Given the description of an element on the screen output the (x, y) to click on. 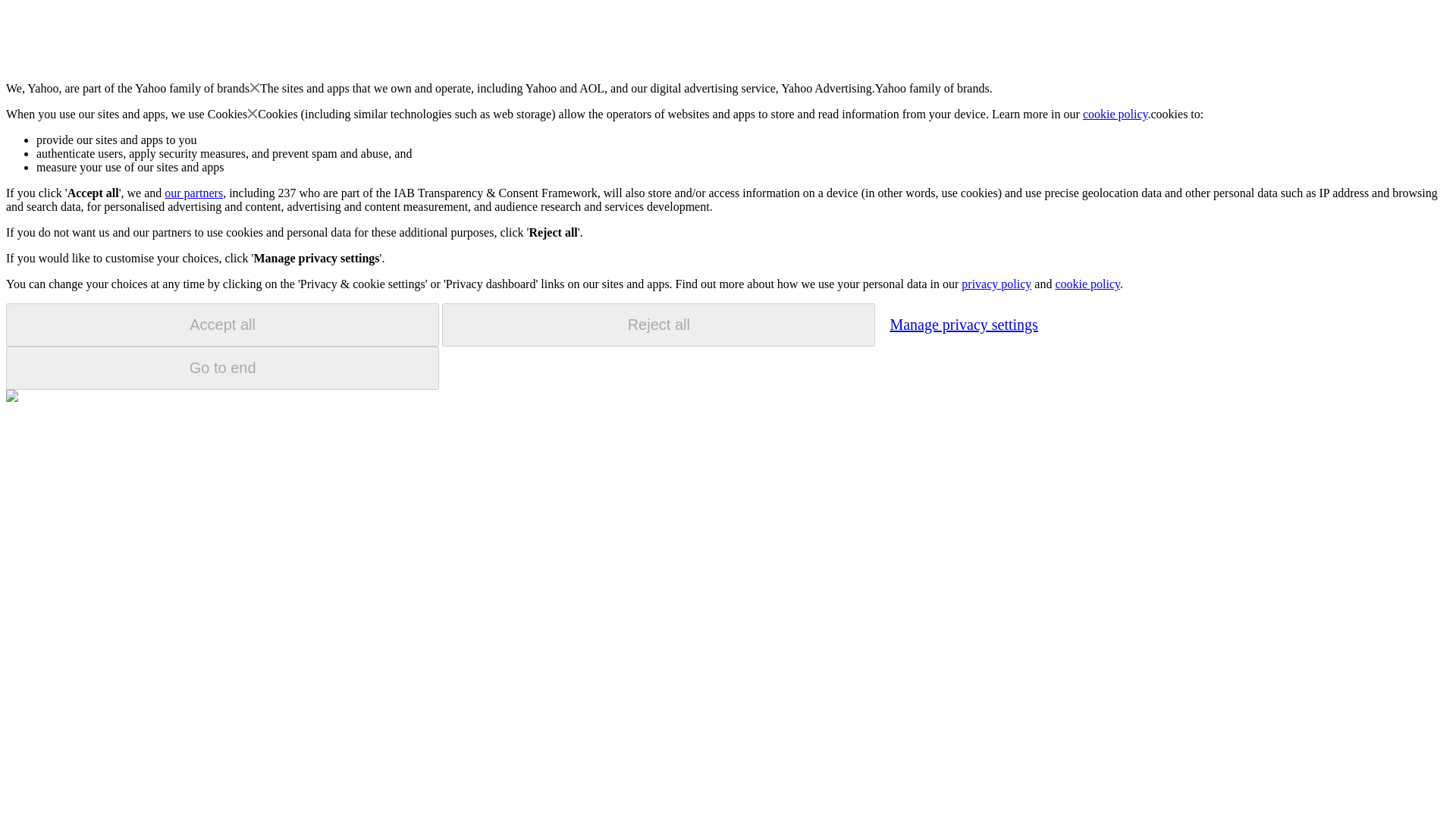
Manage privacy settings (963, 323)
privacy policy (995, 283)
Reject all (658, 324)
cookie policy (1086, 283)
Go to end (222, 367)
cookie policy (1115, 113)
Accept all (222, 324)
our partners (193, 192)
